Given the description of an element on the screen output the (x, y) to click on. 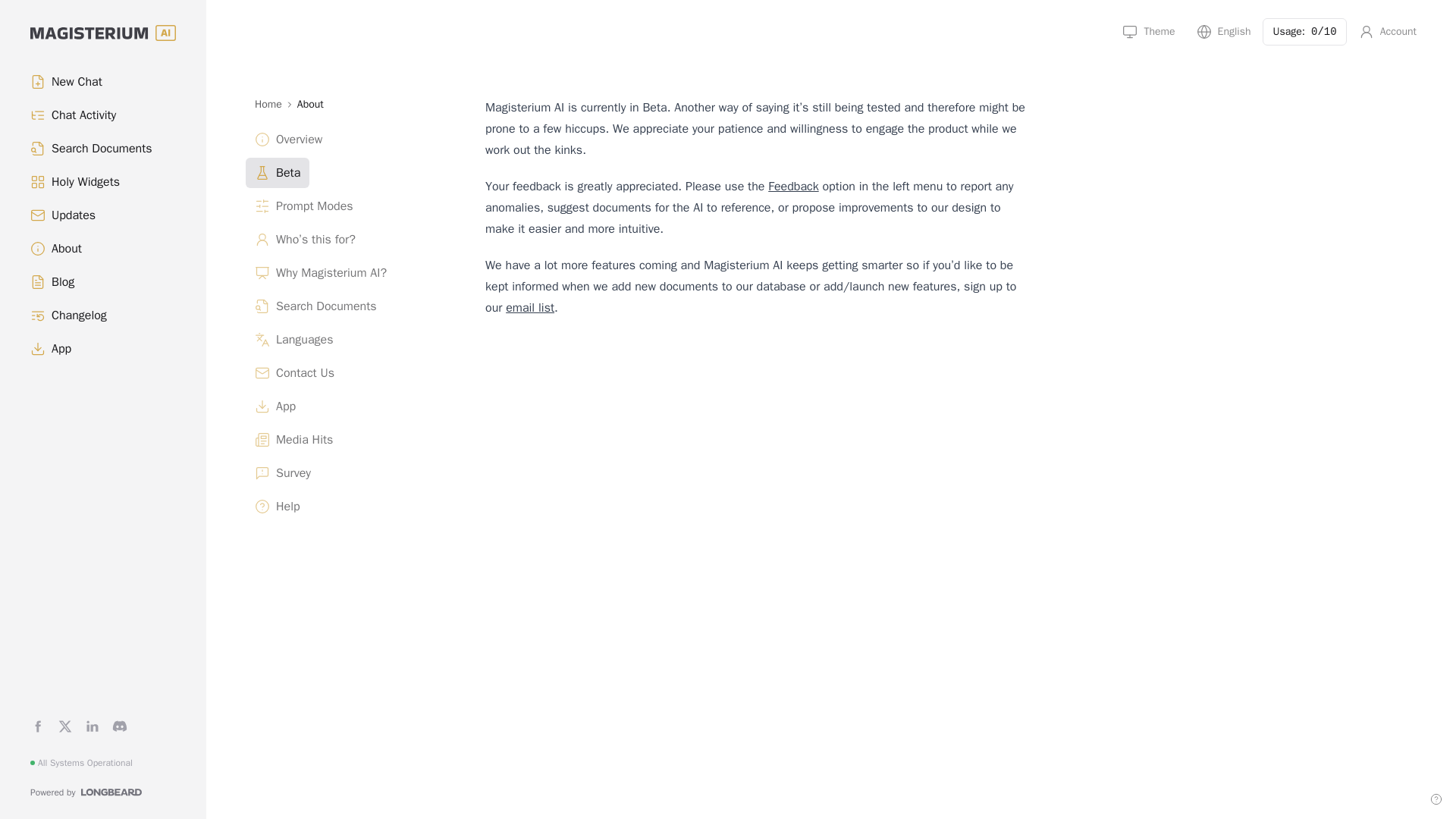
All Systems Operational (81, 762)
Why Magisterium AI? (347, 272)
Search Documents (108, 148)
Beta (347, 173)
Feedback (793, 186)
App (347, 406)
Overview (347, 139)
Blog (108, 281)
Media Hits (347, 440)
Search Documents (347, 306)
